Given the description of an element on the screen output the (x, y) to click on. 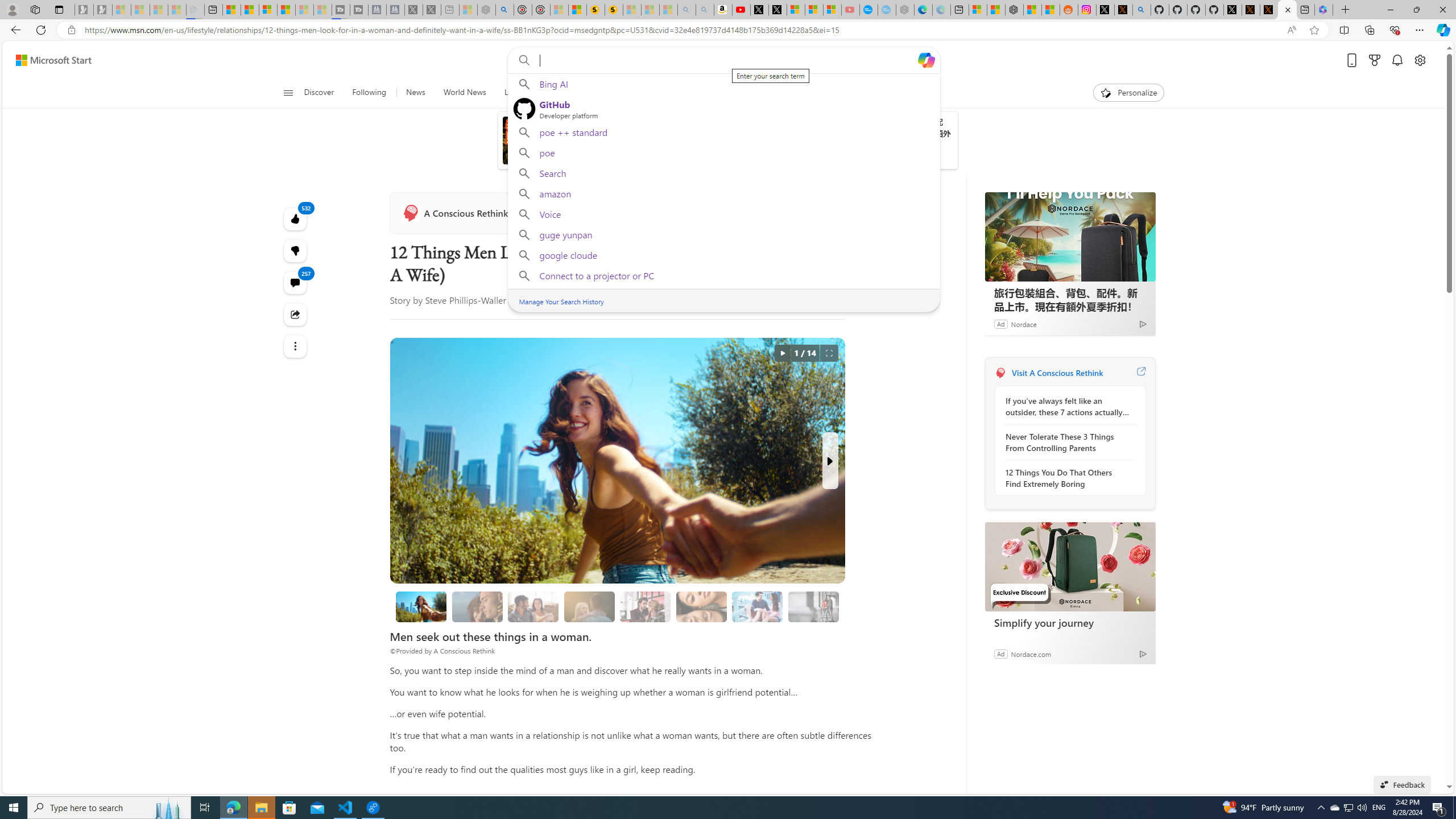
Go to publisher's site (820, 213)
Lifestyle (808, 92)
5. She is independent. (701, 606)
Food & Drink (865, 92)
Class: progress (813, 604)
Manage Your Search History (561, 301)
Simplify your journey (1069, 622)
2. She is accepting. (533, 606)
Nordace.com (1030, 653)
